Given the description of an element on the screen output the (x, y) to click on. 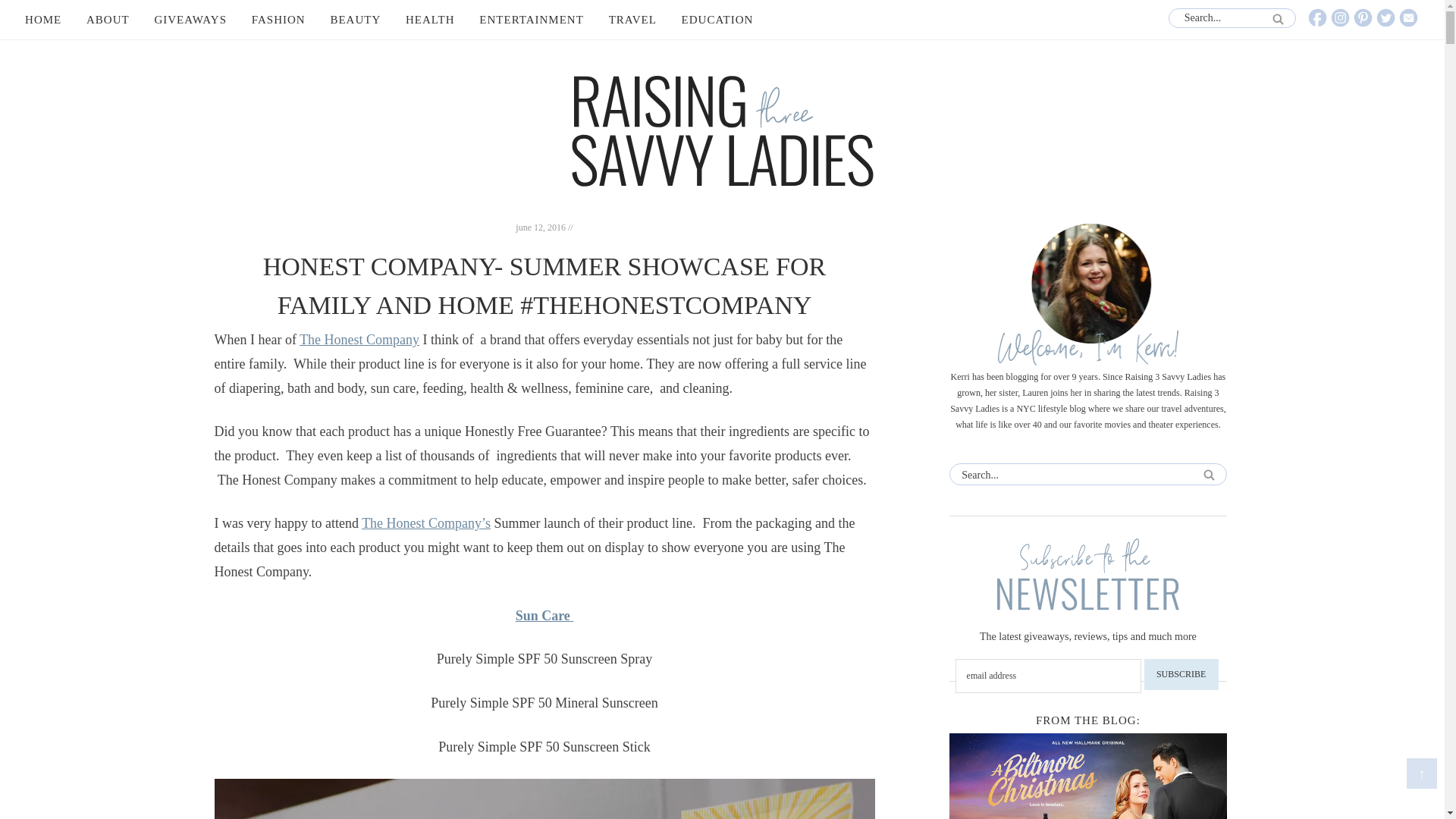
HEALTH (429, 19)
FASHION (278, 19)
EDUCATION (717, 19)
BEAUTY (354, 19)
HOME (42, 19)
ABOUT (107, 19)
RAISING THREE SAVVY LADIES (722, 131)
TRAVEL (632, 19)
ENTERTAINMENT (531, 19)
Sun Care  (544, 615)
Subscribe (1181, 674)
GIVEAWAYS (189, 19)
The Honest Company (359, 339)
